Given the description of an element on the screen output the (x, y) to click on. 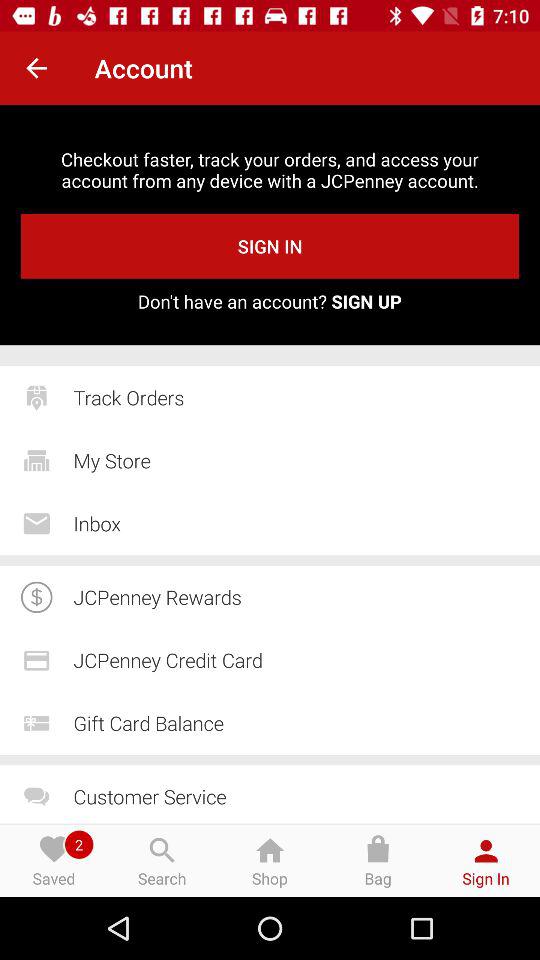
select bag at the bottom of the page (378, 860)
